Given the description of an element on the screen output the (x, y) to click on. 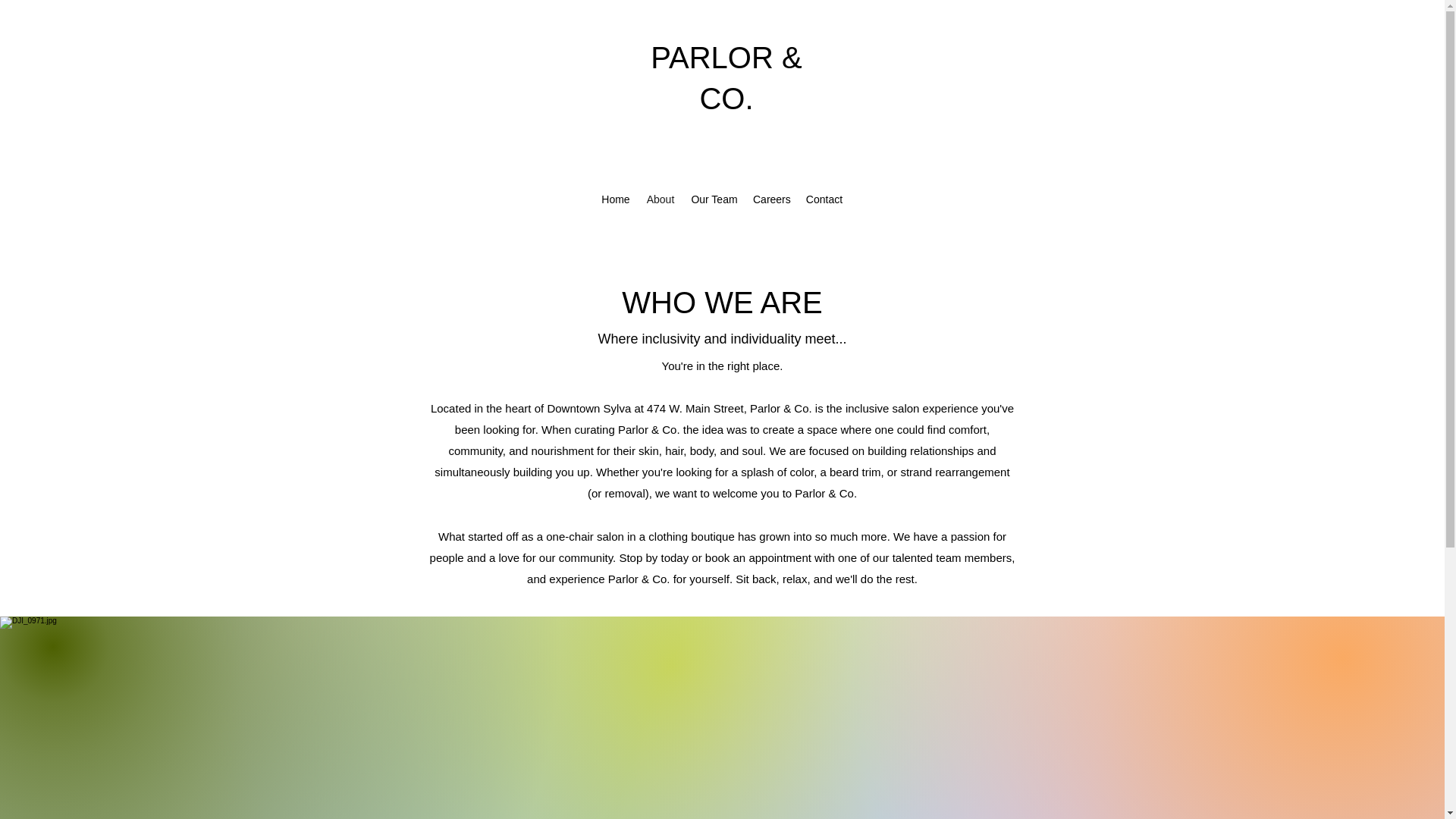
About (659, 199)
Our Team (713, 199)
Careers (771, 199)
Home (615, 199)
Contact (823, 199)
